Given the description of an element on the screen output the (x, y) to click on. 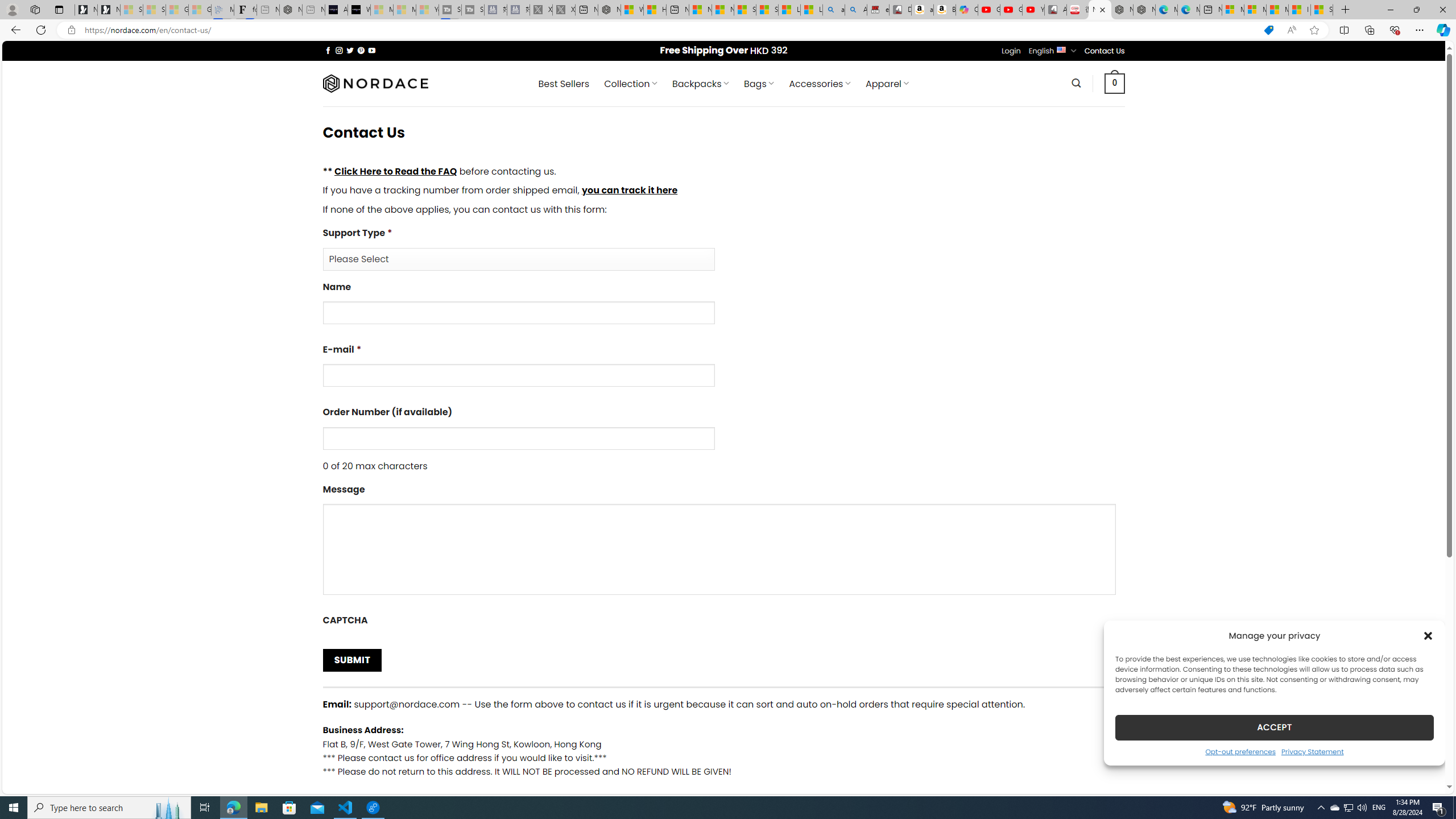
Order Number (if available)0 of 20 max characters (723, 438)
App bar (728, 29)
YouTube Kids - An App Created for Kids to Explore Content (1033, 9)
Support Type* (723, 248)
Close (1442, 9)
Personal Profile (12, 9)
I Gained 20 Pounds of Muscle in 30 Days! | Watch (1300, 9)
Submit (351, 659)
Follow on Instagram (338, 49)
 Best Sellers (563, 83)
Read aloud this page (Ctrl+Shift+U) (1291, 29)
